Given the description of an element on the screen output the (x, y) to click on. 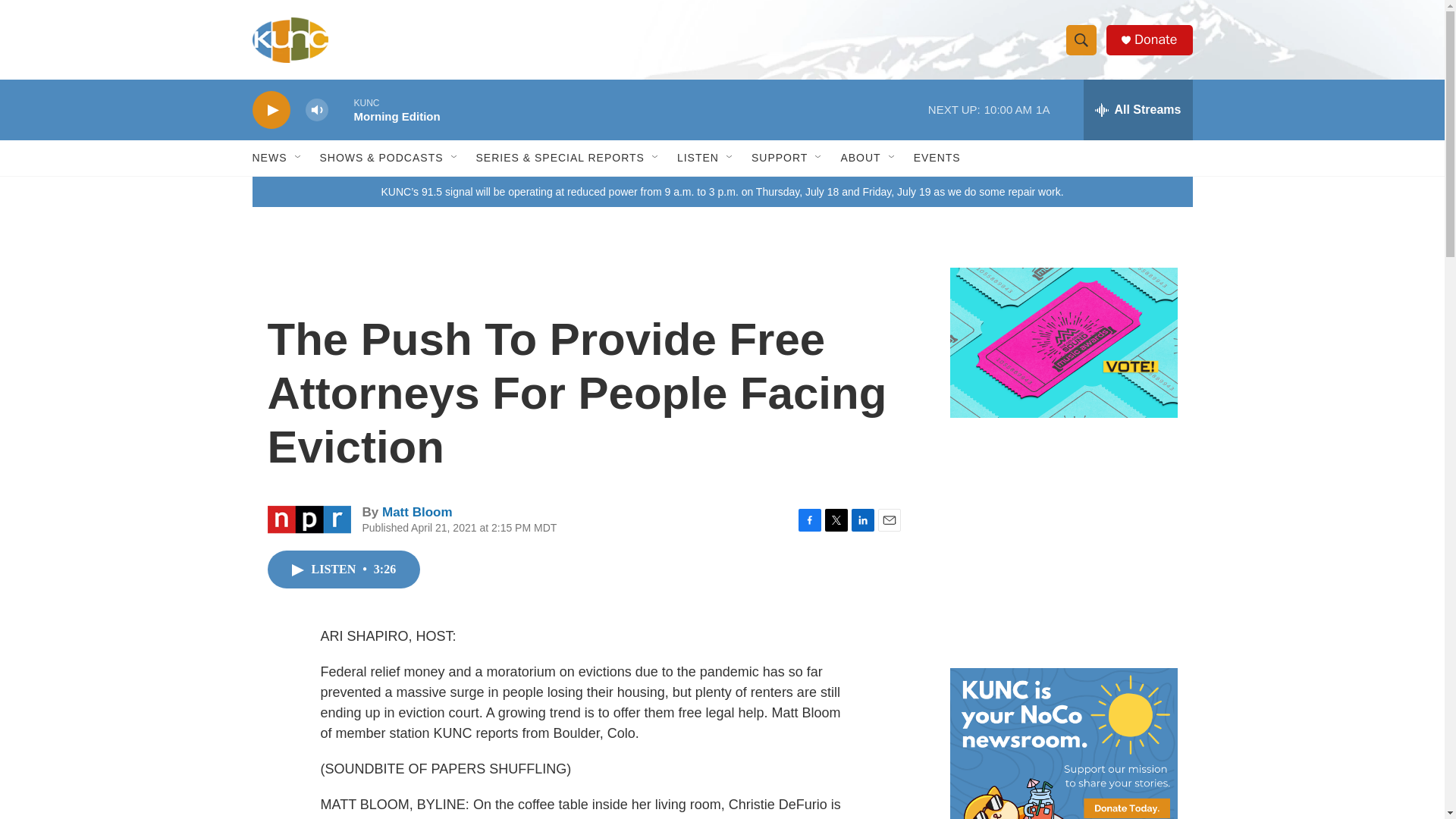
3rd party ad content (1062, 542)
